Given the description of an element on the screen output the (x, y) to click on. 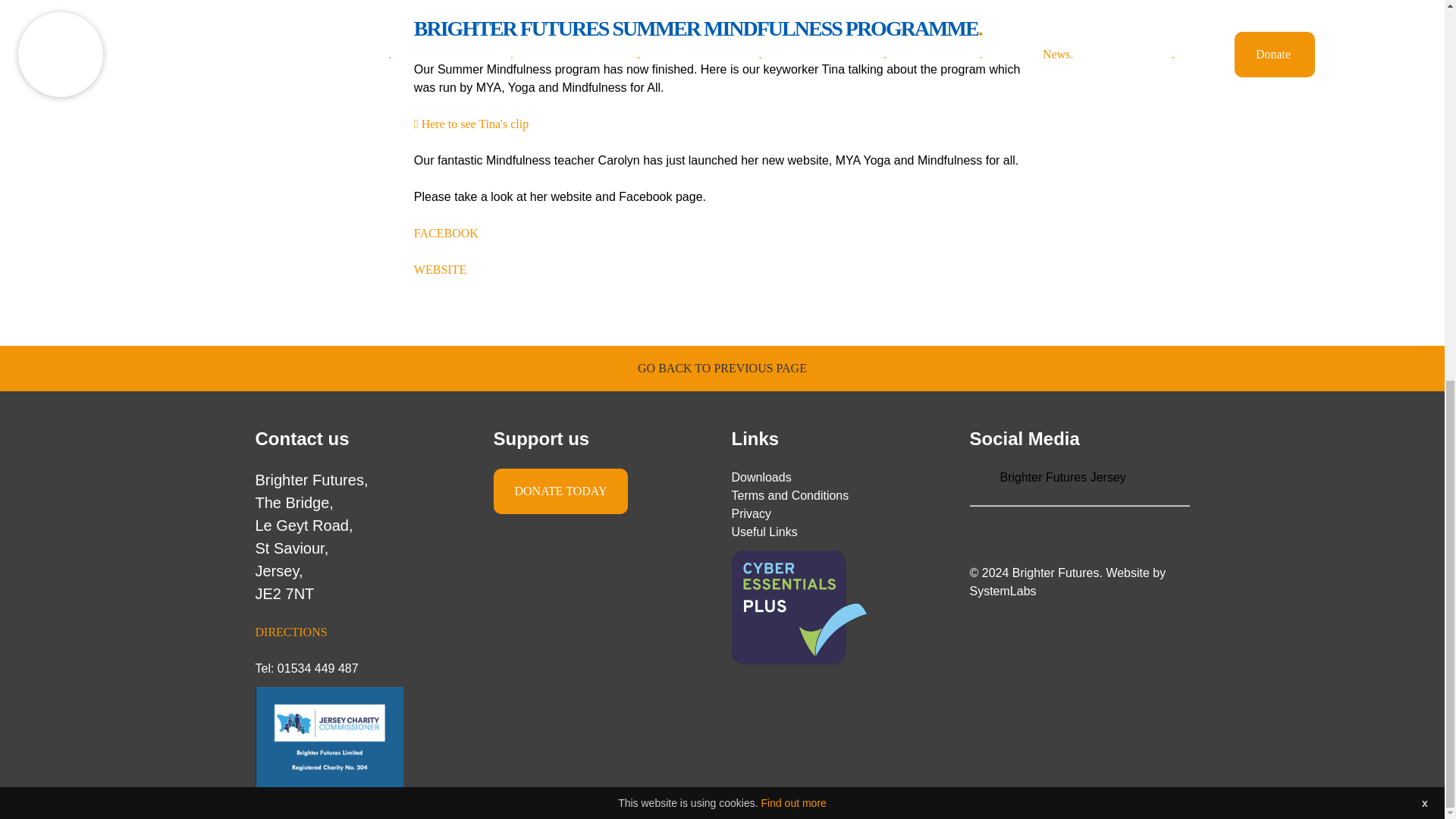
DIRECTIONS (290, 631)
Useful Links (763, 531)
FACEBOOK (446, 232)
Downloads (760, 477)
Brighter Futures Jersey (1061, 477)
Terms and Conditions (789, 495)
Find out more (792, 92)
WEBSITE (439, 269)
SystemLabs (1002, 590)
Privacy (750, 513)
